Given the description of an element on the screen output the (x, y) to click on. 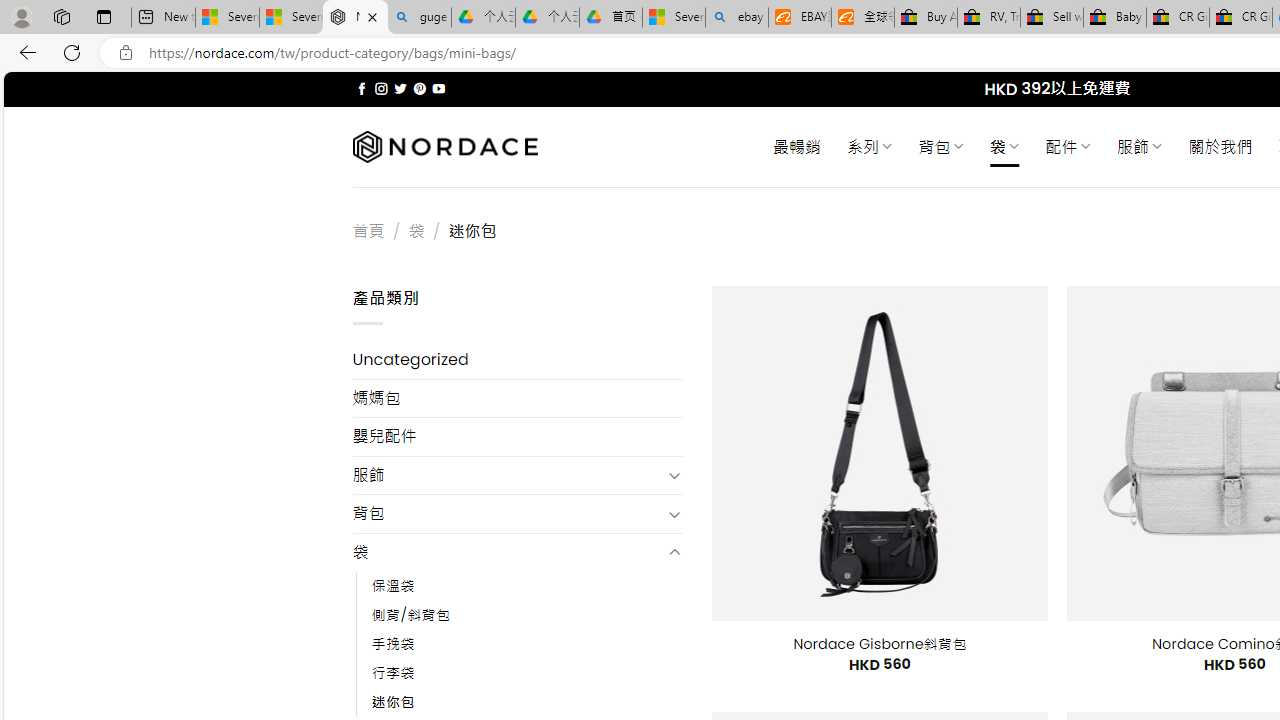
Follow on Pinterest (419, 88)
Follow on Twitter (400, 88)
Uncategorized (517, 359)
